Given the description of an element on the screen output the (x, y) to click on. 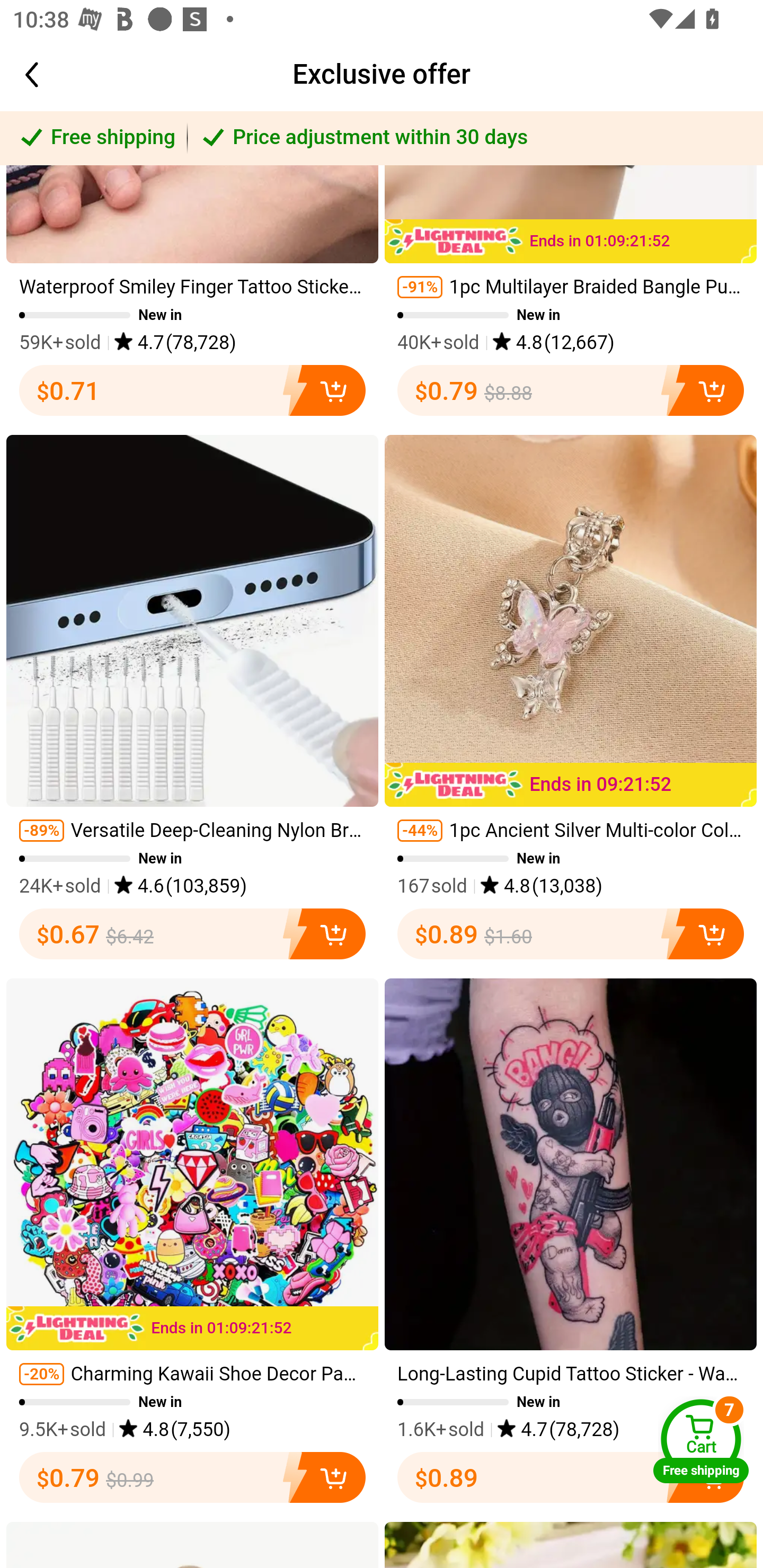
Back (50, 75)
Free shipping (94, 137)
Price adjustment within 30 days (475, 137)
$0.71 (192, 391)
$0.79 $8.88 (570, 391)
$0.67 $6.42 (192, 934)
$0.89 $1.60 (570, 934)
Cart Free shipping Cart (701, 1440)
$0.79 $0.99 (192, 1477)
$0.89 (570, 1477)
